Given the description of an element on the screen output the (x, y) to click on. 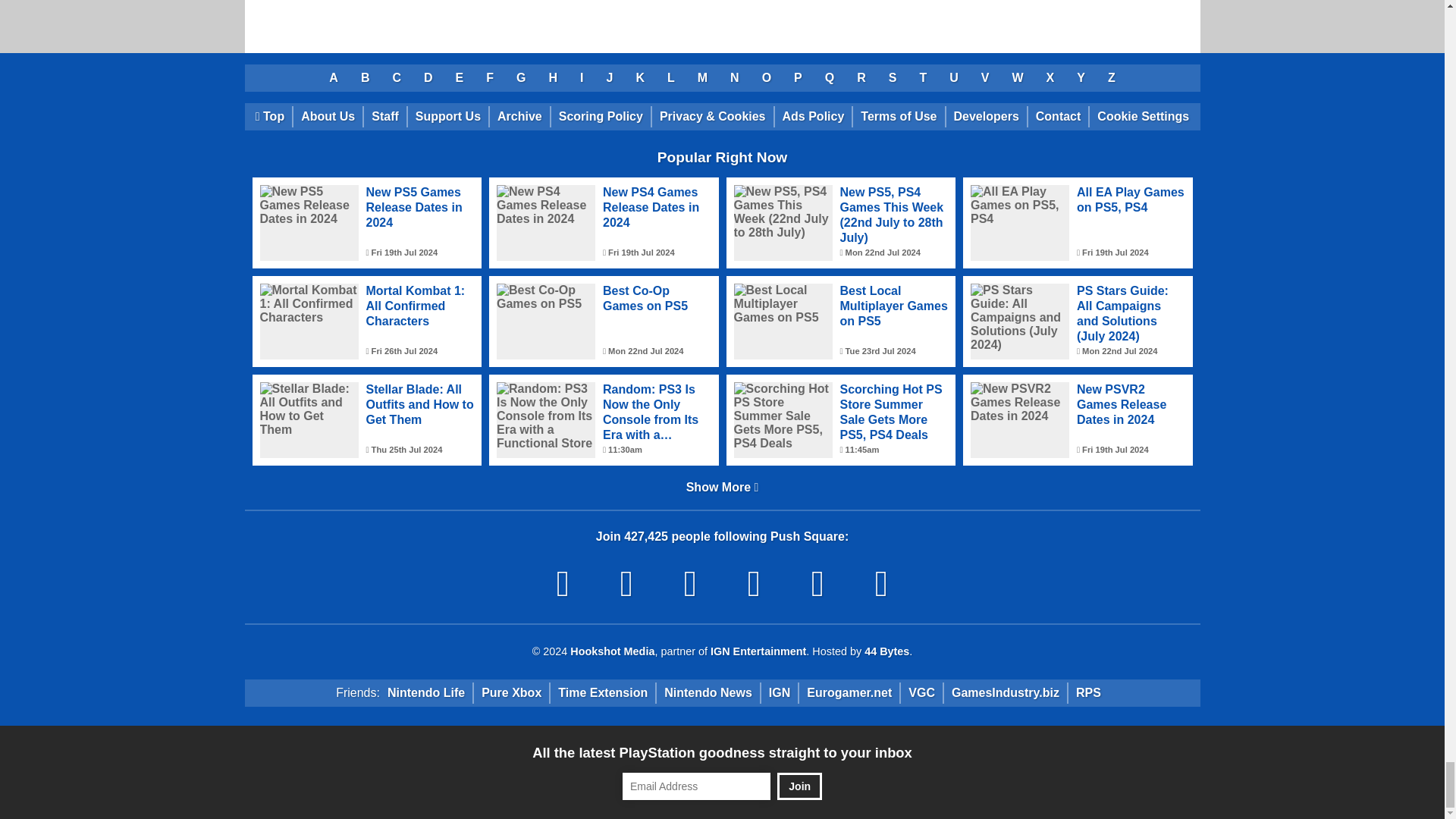
Join (799, 786)
